Given the description of an element on the screen output the (x, y) to click on. 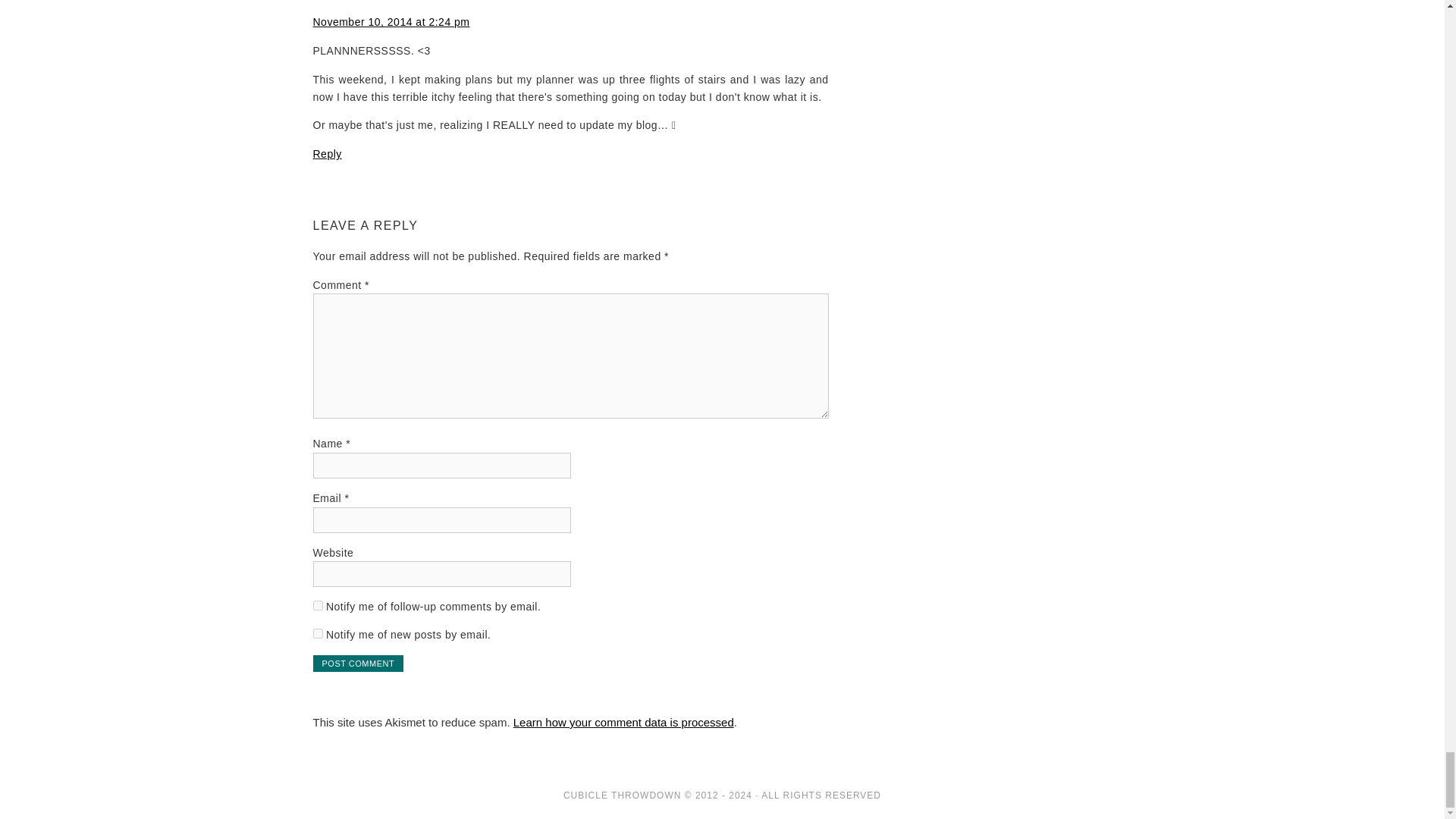
subscribe (317, 633)
Post Comment (358, 663)
subscribe (317, 605)
